Given the description of an element on the screen output the (x, y) to click on. 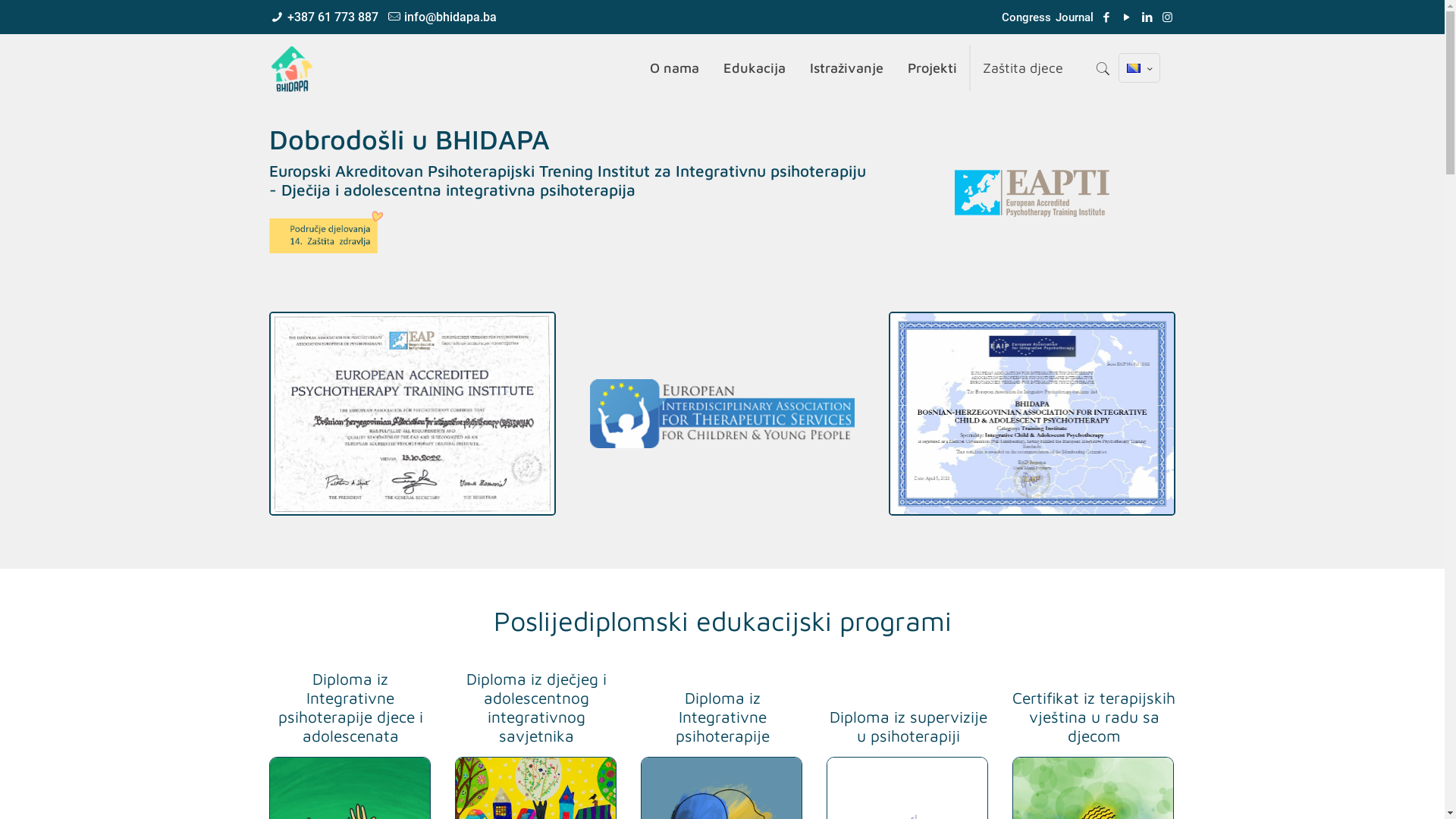
LinkedIn Element type: hover (1146, 17)
Facebook Element type: hover (1105, 17)
Journal Element type: text (1074, 17)
Diploma iz Integrativne psihoterapije djece i adolescenata Element type: text (350, 707)
Projekti Element type: text (932, 68)
Diploma iz Integrativne psihoterapije Element type: text (721, 716)
Instagram Element type: hover (1167, 17)
O nama Element type: text (674, 68)
+387 61 773 887 Element type: text (332, 16)
info@bhidapa.ba Element type: text (450, 16)
YouTube Element type: hover (1126, 17)
Edukacija Element type: text (754, 68)
Congress Element type: text (1026, 17)
BHIDAPA Element type: hover (291, 68)
